Given the description of an element on the screen output the (x, y) to click on. 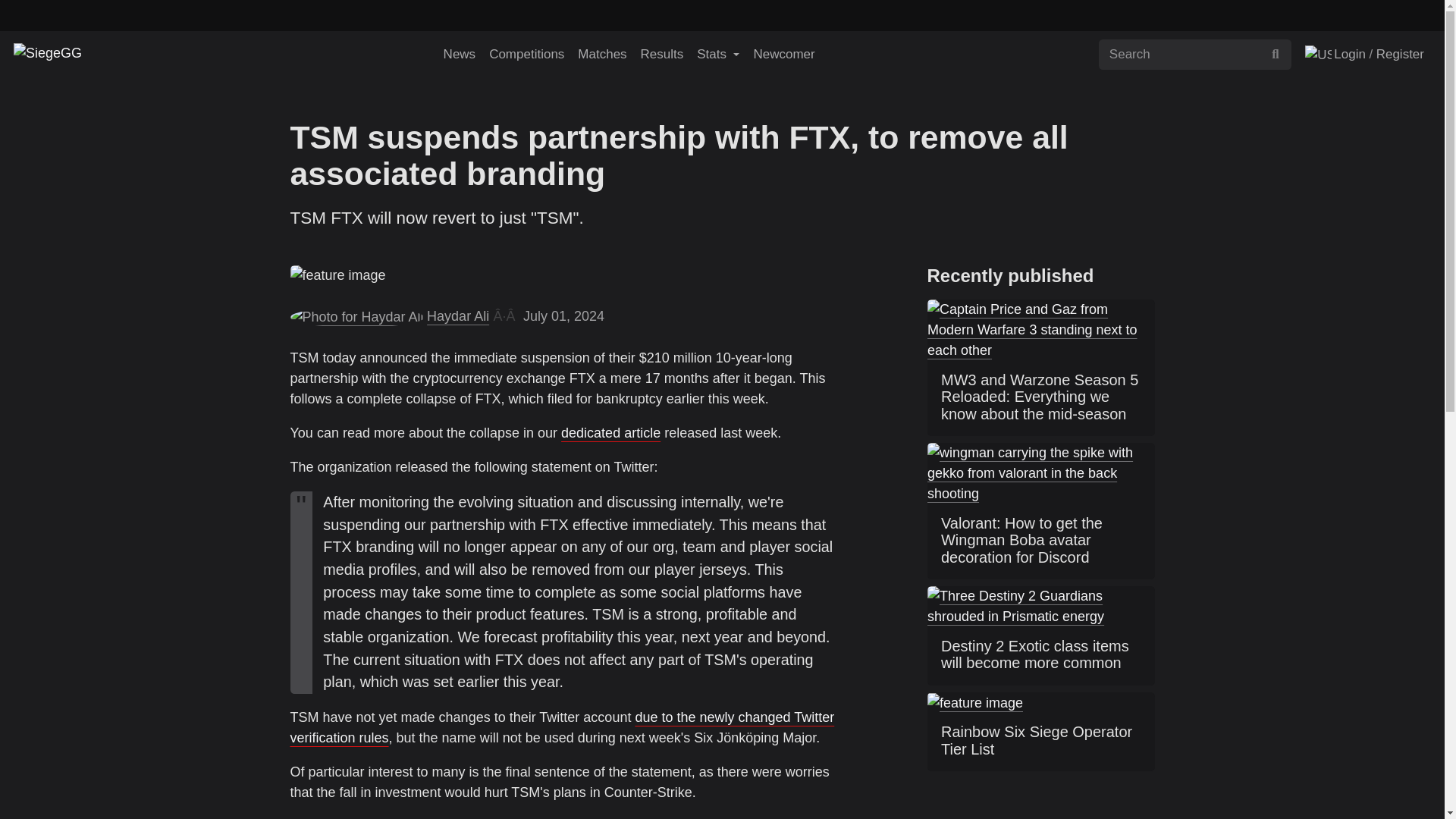
Newcomer (783, 54)
Login (1347, 54)
News (459, 54)
dedicated article (610, 432)
Destiny 2 Exotic class items will become more common (1040, 656)
due to the newly changed Twitter verification rules (561, 727)
Matches (601, 54)
Competitions (525, 54)
Register (1402, 54)
Rainbow Six Siege Operator Tier List (1040, 741)
USA (1318, 55)
Results (661, 54)
Stats  (717, 54)
